Given the description of an element on the screen output the (x, y) to click on. 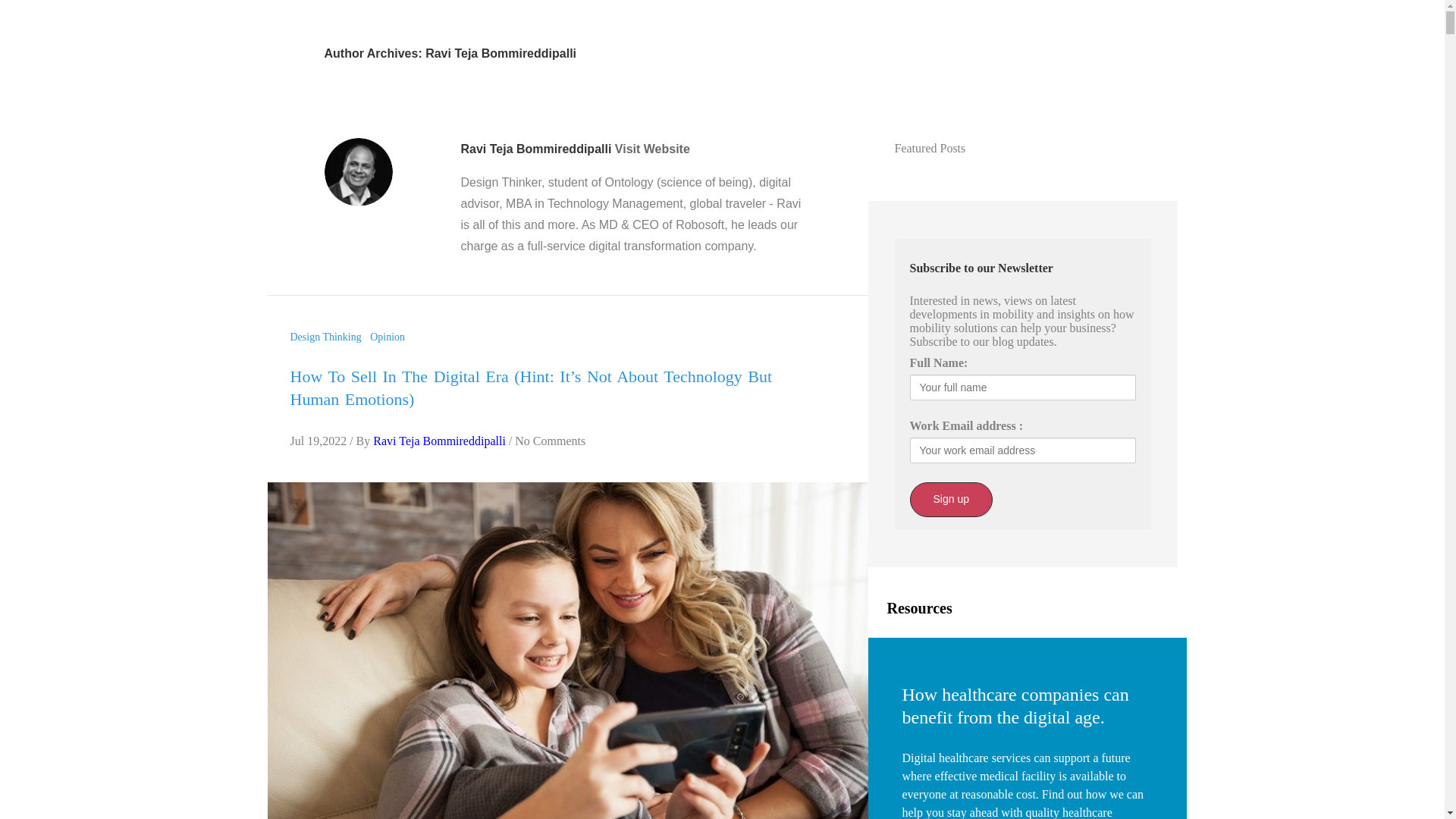
Design Thinking (327, 337)
Ravi Teja Bommireddipalli (438, 440)
Visit Website (652, 149)
Sign up (951, 499)
Opinion (389, 337)
Posts by Ravi Teja Bommireddipalli (438, 440)
